Given the description of an element on the screen output the (x, y) to click on. 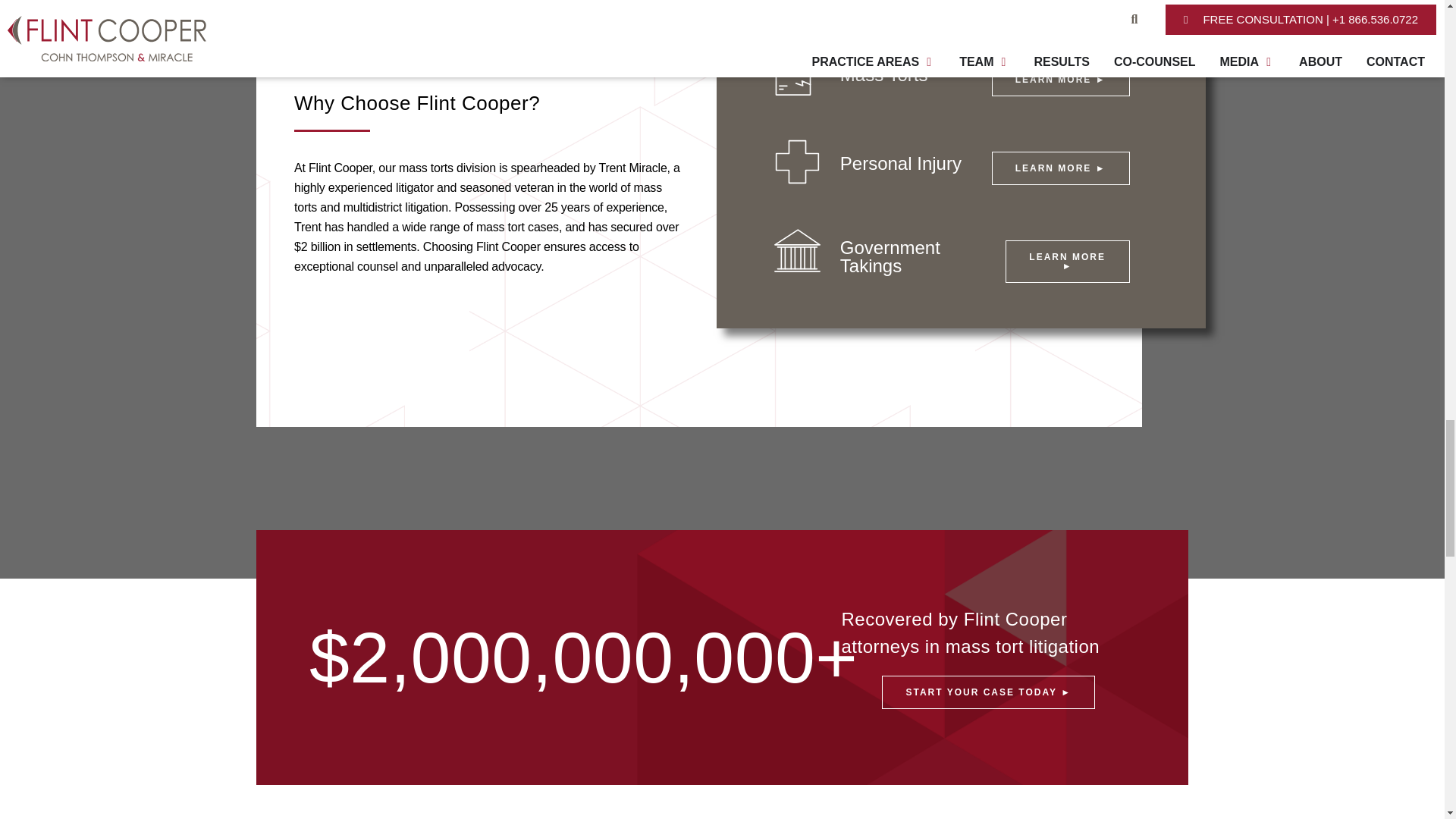
Personal Injury (797, 161)
Asbestos (797, 6)
Products Liability (797, 72)
Government Takings (797, 250)
